Given the description of an element on the screen output the (x, y) to click on. 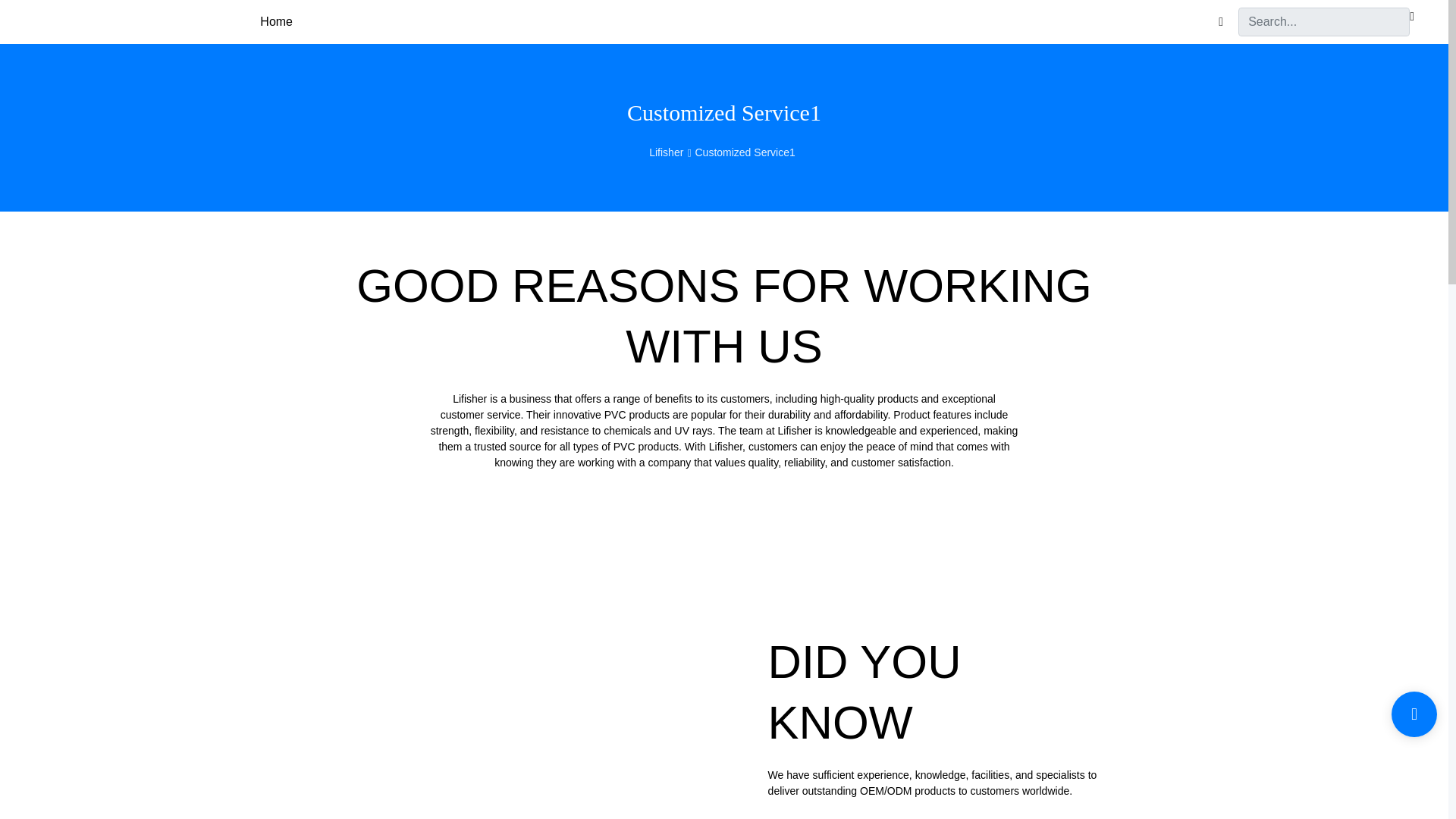
Customized Service1 (743, 152)
Home (276, 22)
Lifisher (668, 152)
